Given the description of an element on the screen output the (x, y) to click on. 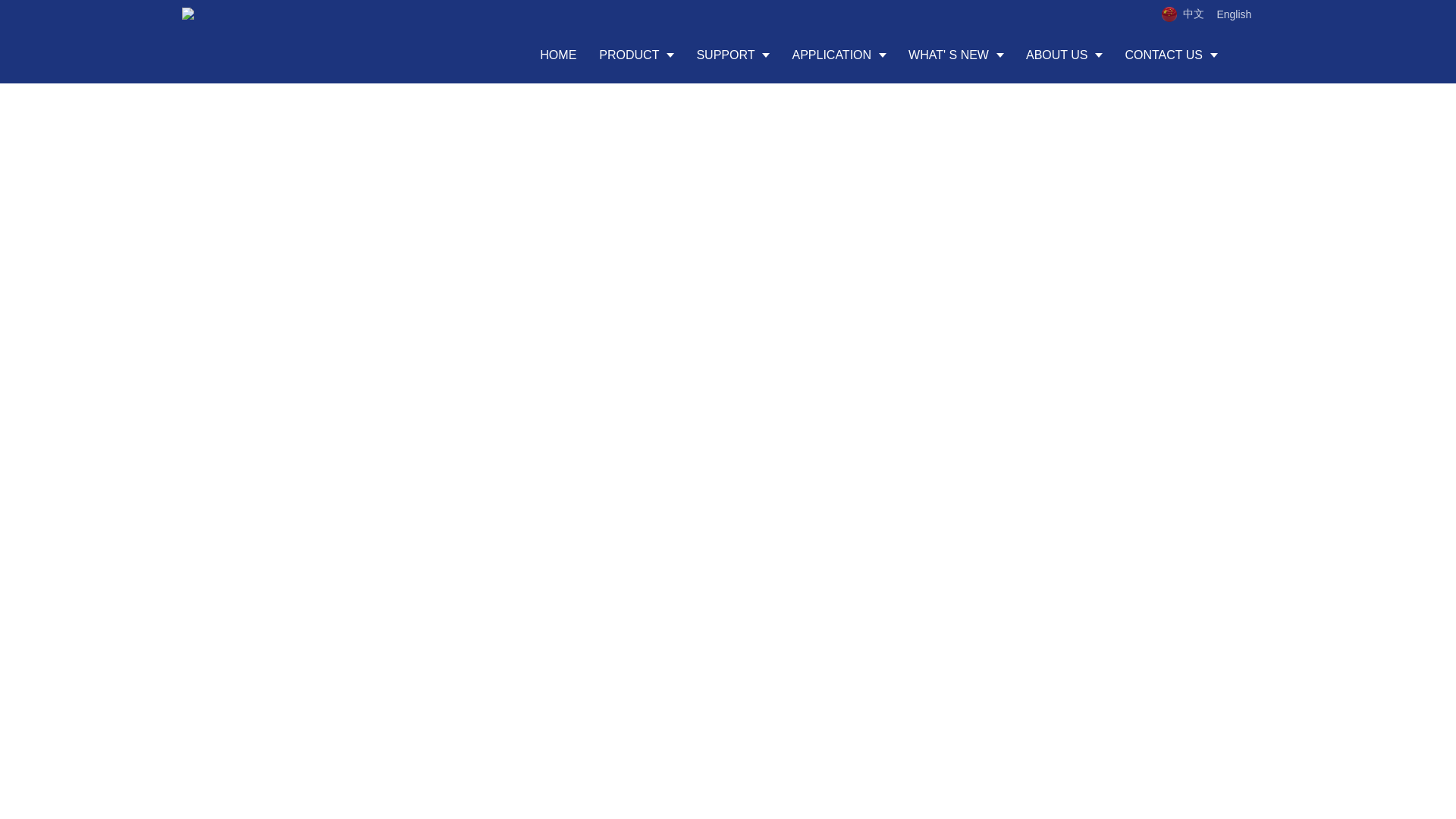
SUPPORT (732, 55)
PRODUCT (636, 55)
HOME (558, 55)
